Given the description of an element on the screen output the (x, y) to click on. 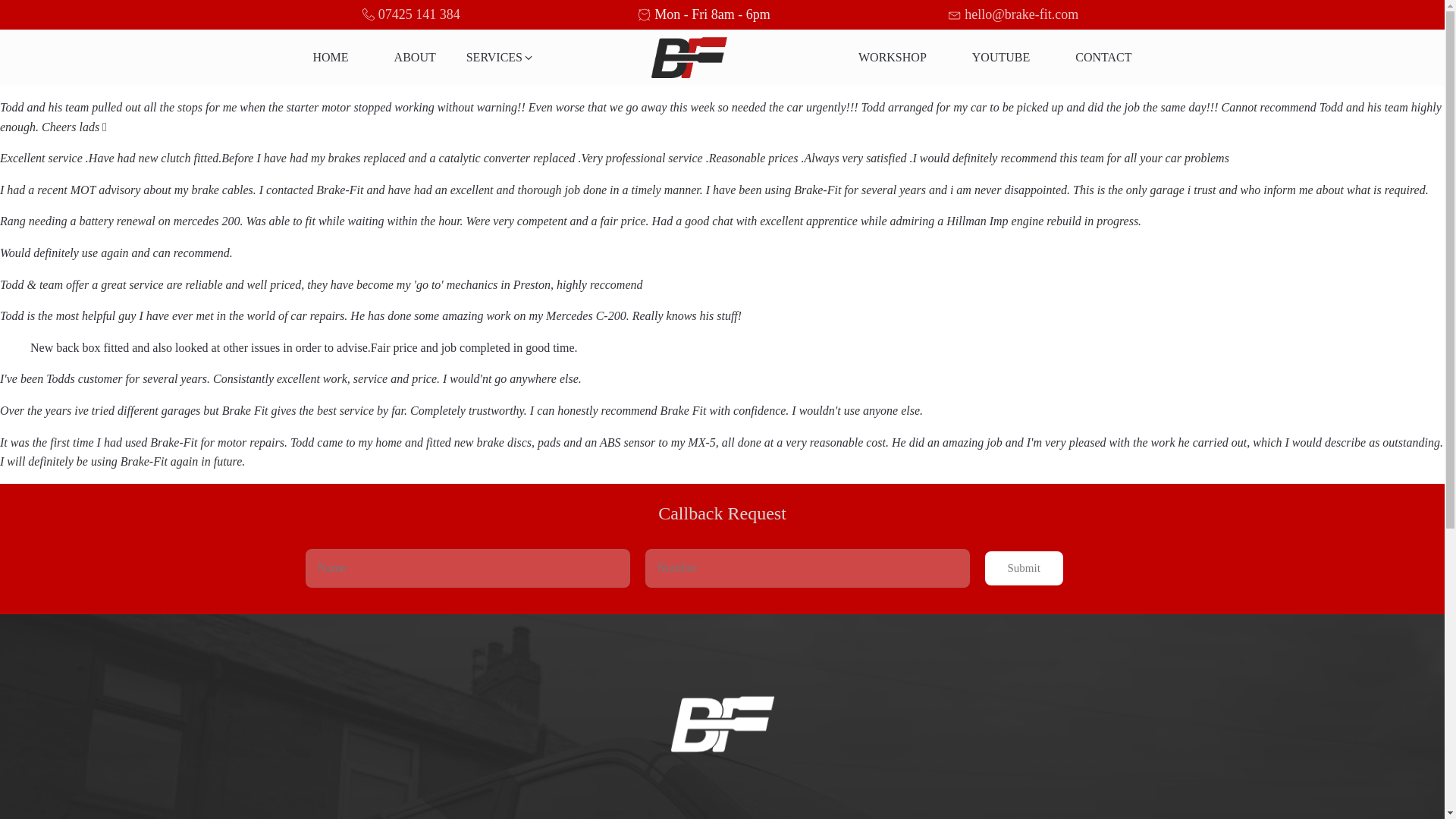
WORKSHOP (892, 57)
07425 141 384 (419, 14)
CONTACT (1103, 57)
SERVICES (499, 57)
HOME (330, 57)
YOUTUBE (1000, 57)
Submit (1023, 568)
ABOUT (414, 57)
